Given the description of an element on the screen output the (x, y) to click on. 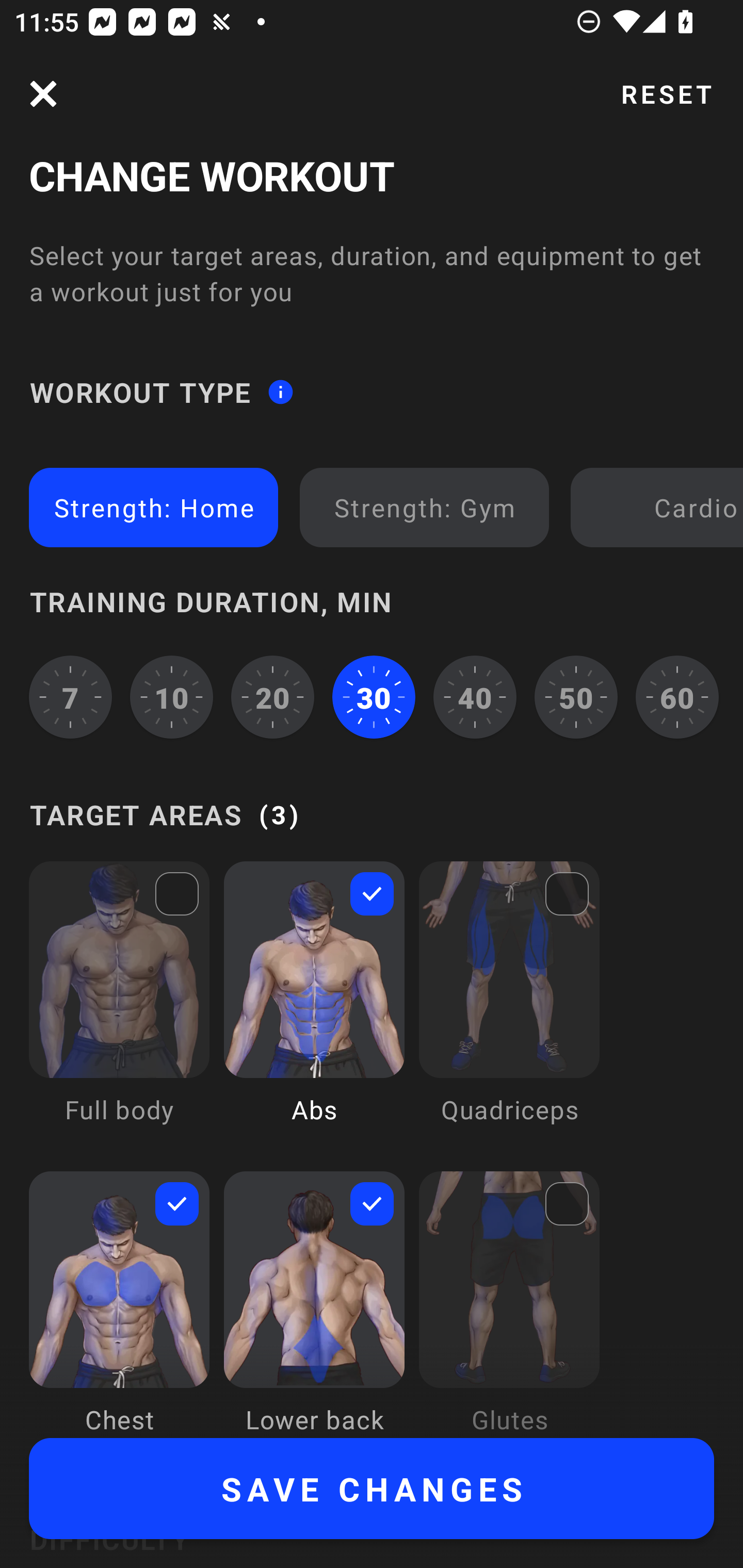
Navigation icon (43, 93)
RESET (666, 93)
Workout type information button (280, 391)
Strength: Gym (423, 507)
Cardio (660, 507)
7 (70, 696)
10 (171, 696)
20 (272, 696)
30 (373, 696)
40 (474, 696)
50 (575, 696)
60 (676, 696)
Full body (118, 1007)
Quadriceps (509, 1007)
Glutes (509, 1304)
SAVE CHANGES (371, 1488)
